Given the description of an element on the screen output the (x, y) to click on. 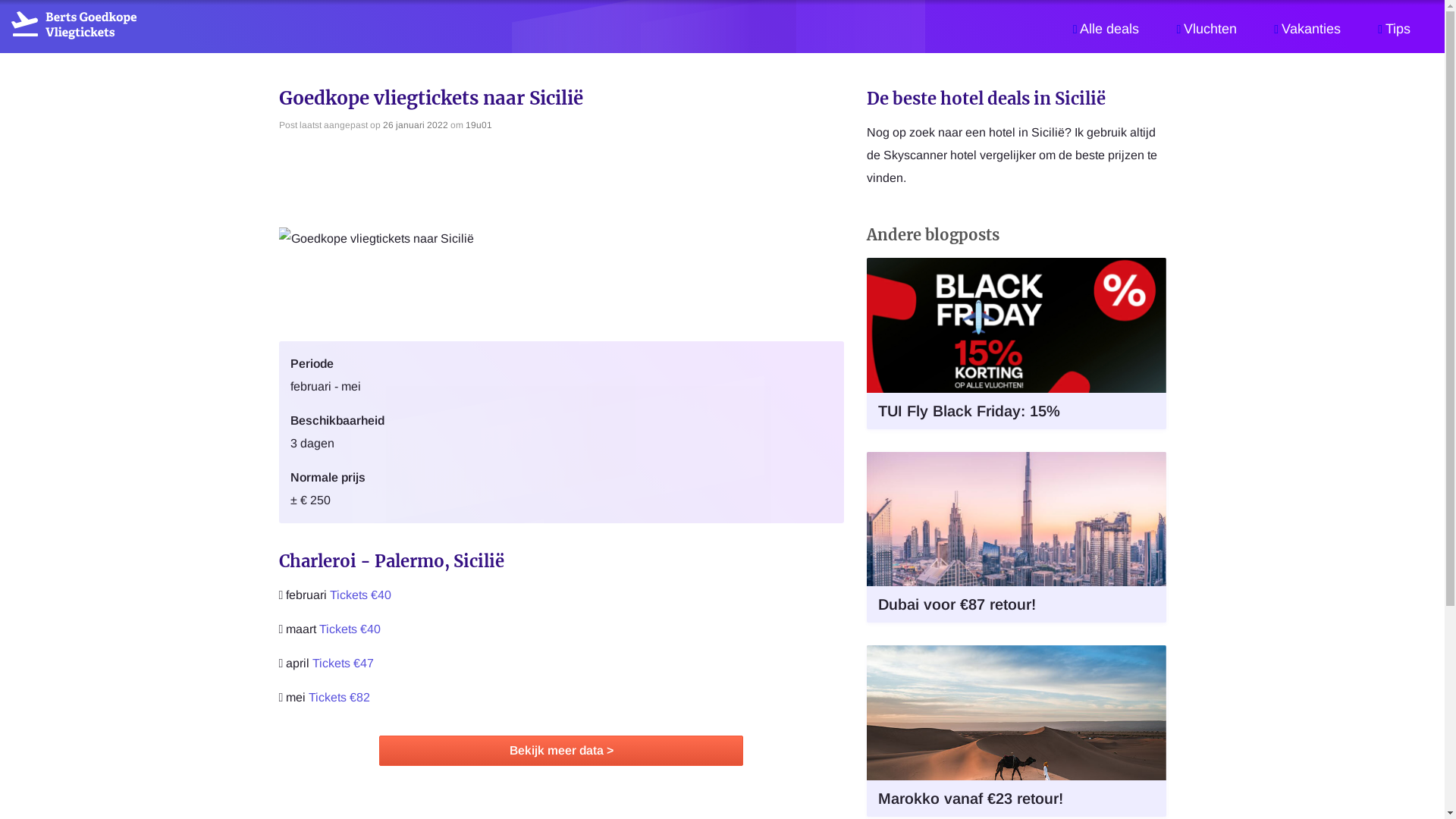
Bekijk meer data > Element type: text (561, 750)
TUI Fly Black Friday: 15% Element type: text (1016, 343)
